Given the description of an element on the screen output the (x, y) to click on. 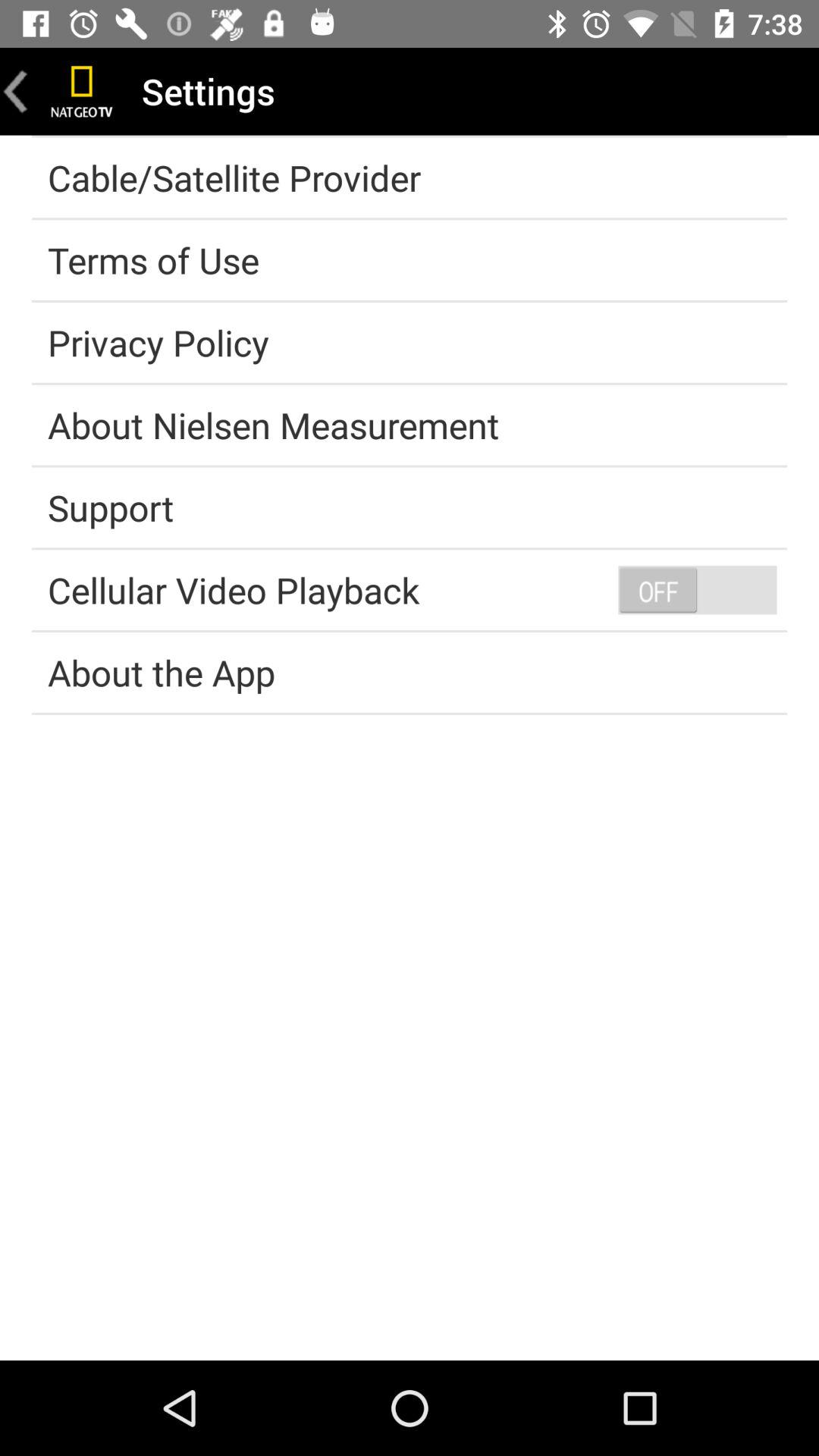
toggle cellular video playback option (696, 589)
